Given the description of an element on the screen output the (x, y) to click on. 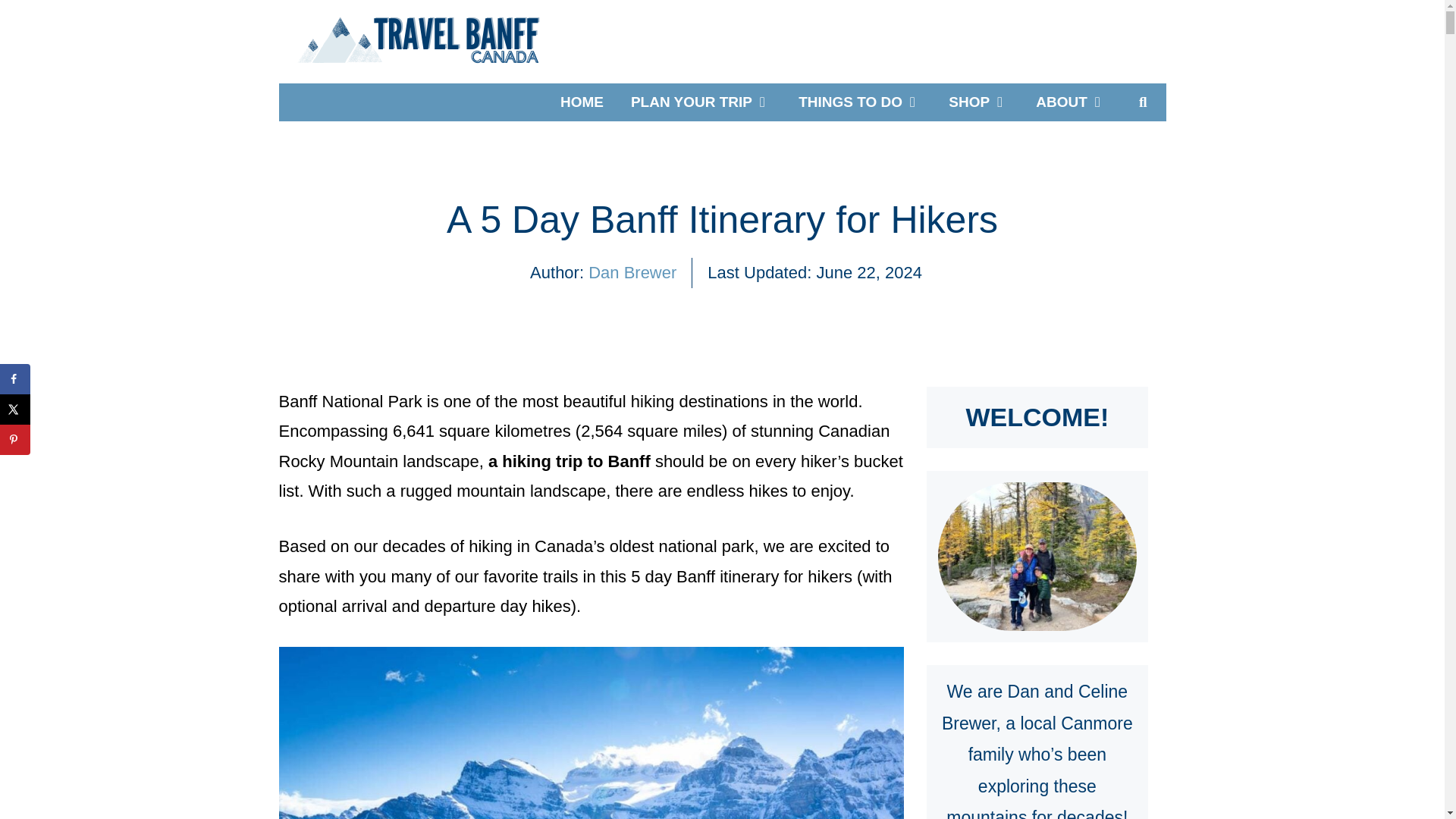
Share on Facebook (15, 378)
Save to Pinterest (15, 440)
Dan Brewer (632, 271)
SHOP (978, 102)
ABOUT (1070, 102)
HOME (582, 102)
Share on X (15, 409)
PLAN YOUR TRIP (700, 102)
THINGS TO DO (859, 102)
